Given the description of an element on the screen output the (x, y) to click on. 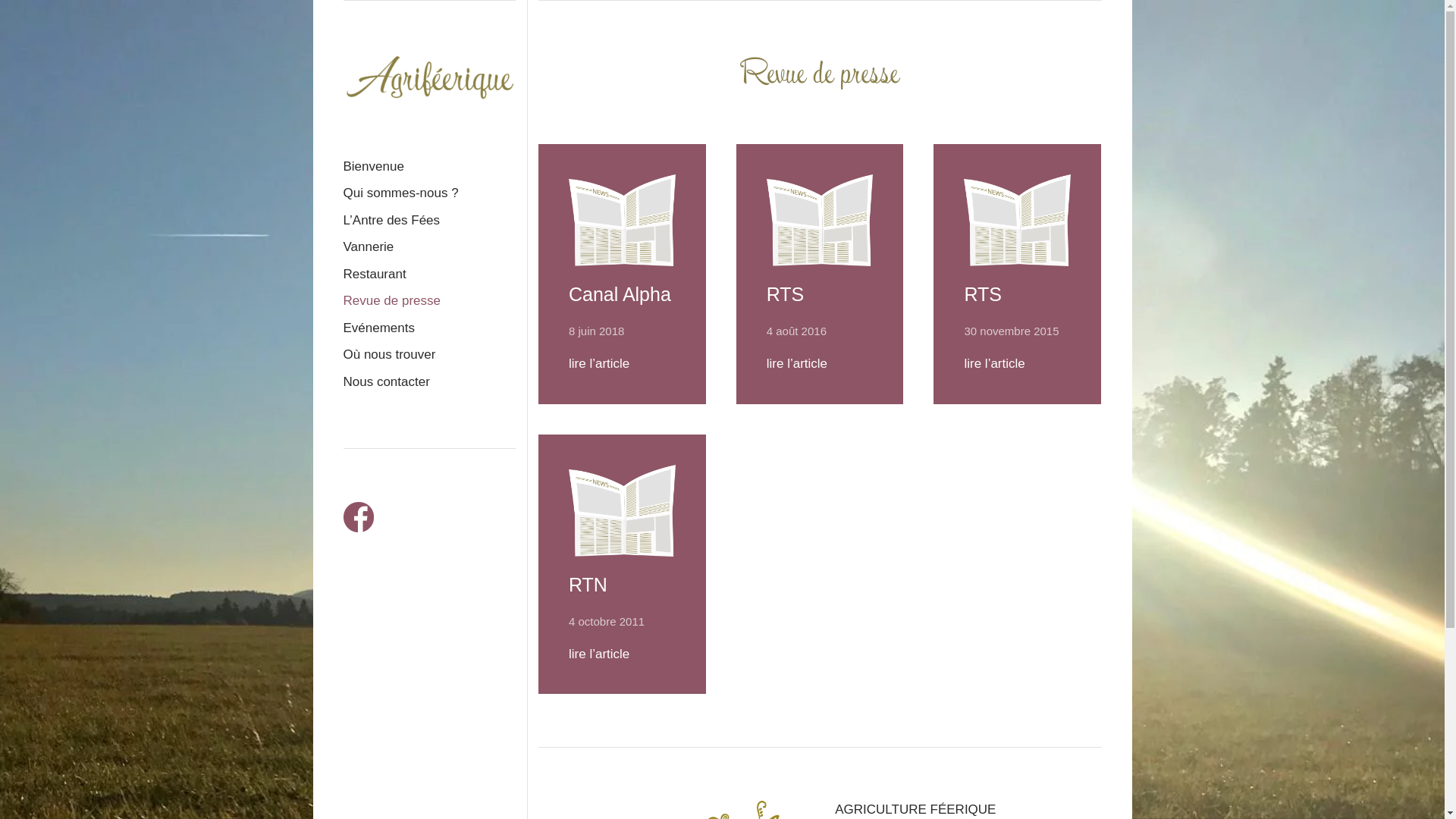
Restaurant Element type: text (428, 274)
Revue de presse Element type: text (428, 300)
Bienvenue Element type: text (428, 166)
Suivez-nous Element type: hover (357, 517)
Nous contacter Element type: text (428, 381)
Qui sommes-nous ? Element type: text (428, 193)
Vannerie Element type: text (428, 246)
